Given the description of an element on the screen output the (x, y) to click on. 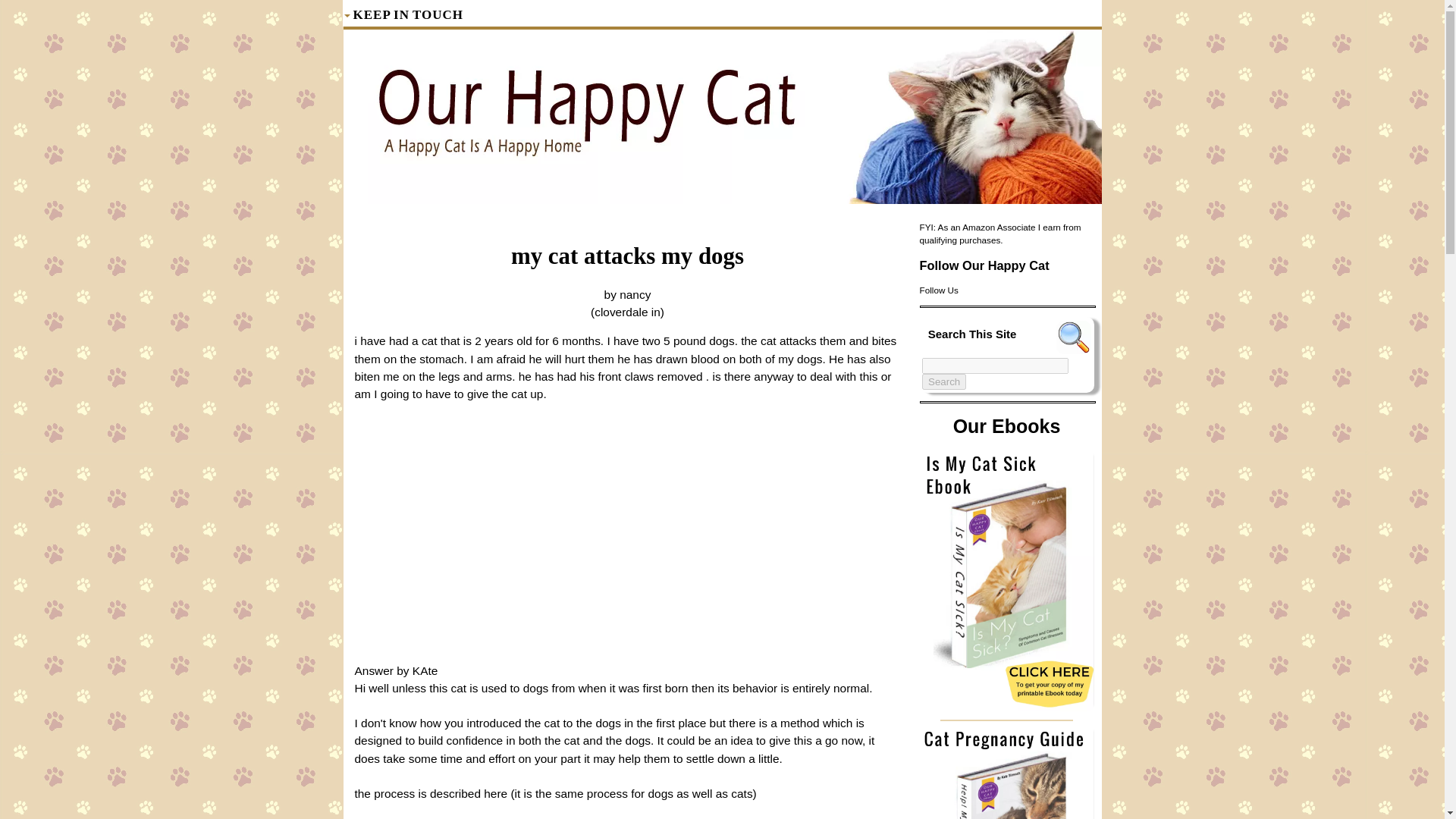
Search (943, 381)
Advertisement (628, 538)
